Given the description of an element on the screen output the (x, y) to click on. 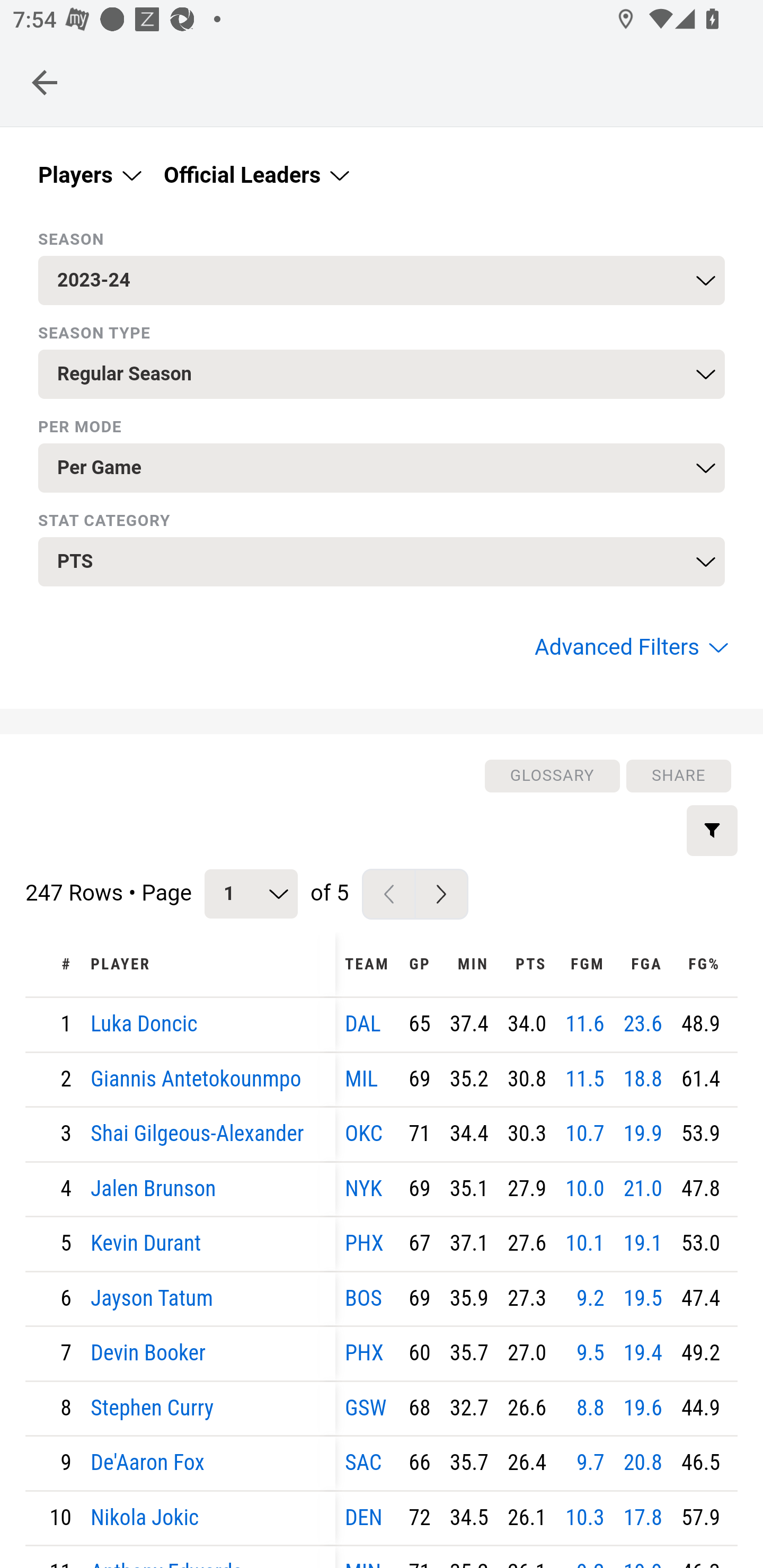
Navigate up (44, 82)
Players (88, 175)
Official Leaders (254, 175)
2023-24 (381, 280)
Regular Season (381, 373)
Per Game (381, 467)
PTS (381, 561)
Advanced Filters (629, 647)
GLOSSARY (550, 775)
SHARE (677, 775)
Add a custom filter (711, 830)
Previous Page Button (387, 893)
Next Page Button (441, 893)
1 (251, 893)
# (52, 964)
PLAYER (207, 964)
TEAM (367, 964)
GP (419, 964)
MIN (468, 964)
PTS (526, 964)
FGM (584, 964)
FGA (642, 964)
FG% (700, 964)
Luka Doncic (144, 1024)
DAL (362, 1024)
11.6 (584, 1024)
23.6 (643, 1024)
Giannis Antetokounmpo (196, 1078)
MIL (361, 1078)
11.5 (584, 1078)
18.8 (643, 1078)
Shai Gilgeous-Alexander (197, 1134)
OKC (363, 1134)
10.7 (584, 1134)
19.9 (643, 1134)
Jalen Brunson (152, 1188)
NYK (363, 1188)
10.0 (584, 1188)
21.0 (643, 1188)
Kevin Durant (146, 1243)
PHX (364, 1243)
10.1 (584, 1243)
19.1 (643, 1243)
Jayson Tatum (152, 1298)
BOS (363, 1298)
9.2 (590, 1298)
19.5 (643, 1298)
Devin Booker (148, 1353)
PHX (364, 1353)
9.5 (590, 1353)
19.4 (643, 1353)
Stephen Curry (152, 1407)
GSW (365, 1407)
8.8 (590, 1407)
19.6 (643, 1407)
De'Aaron Fox (147, 1462)
SAC (363, 1462)
9.7 (590, 1462)
20.8 (643, 1462)
Nikola Jokic (144, 1517)
DEN (363, 1517)
10.3 (584, 1517)
17.8 (643, 1517)
